Given the description of an element on the screen output the (x, y) to click on. 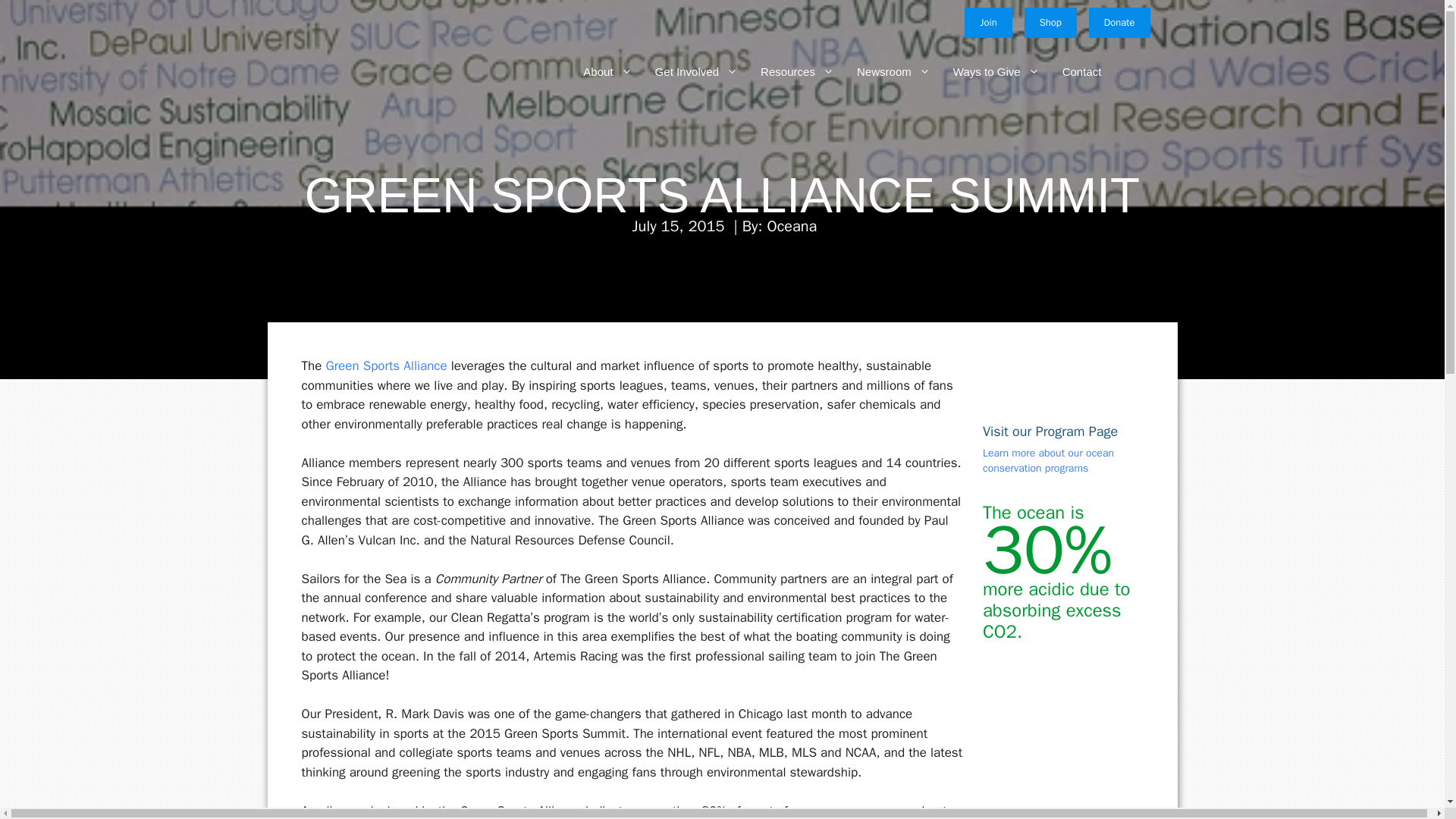
Join (987, 22)
Ways to Give (984, 72)
Newsroom (882, 72)
About (595, 72)
Sailors for the Sea (353, 70)
Donate (1119, 22)
Shop (1051, 22)
Resources (786, 72)
Get Involved (684, 72)
